Given the description of an element on the screen output the (x, y) to click on. 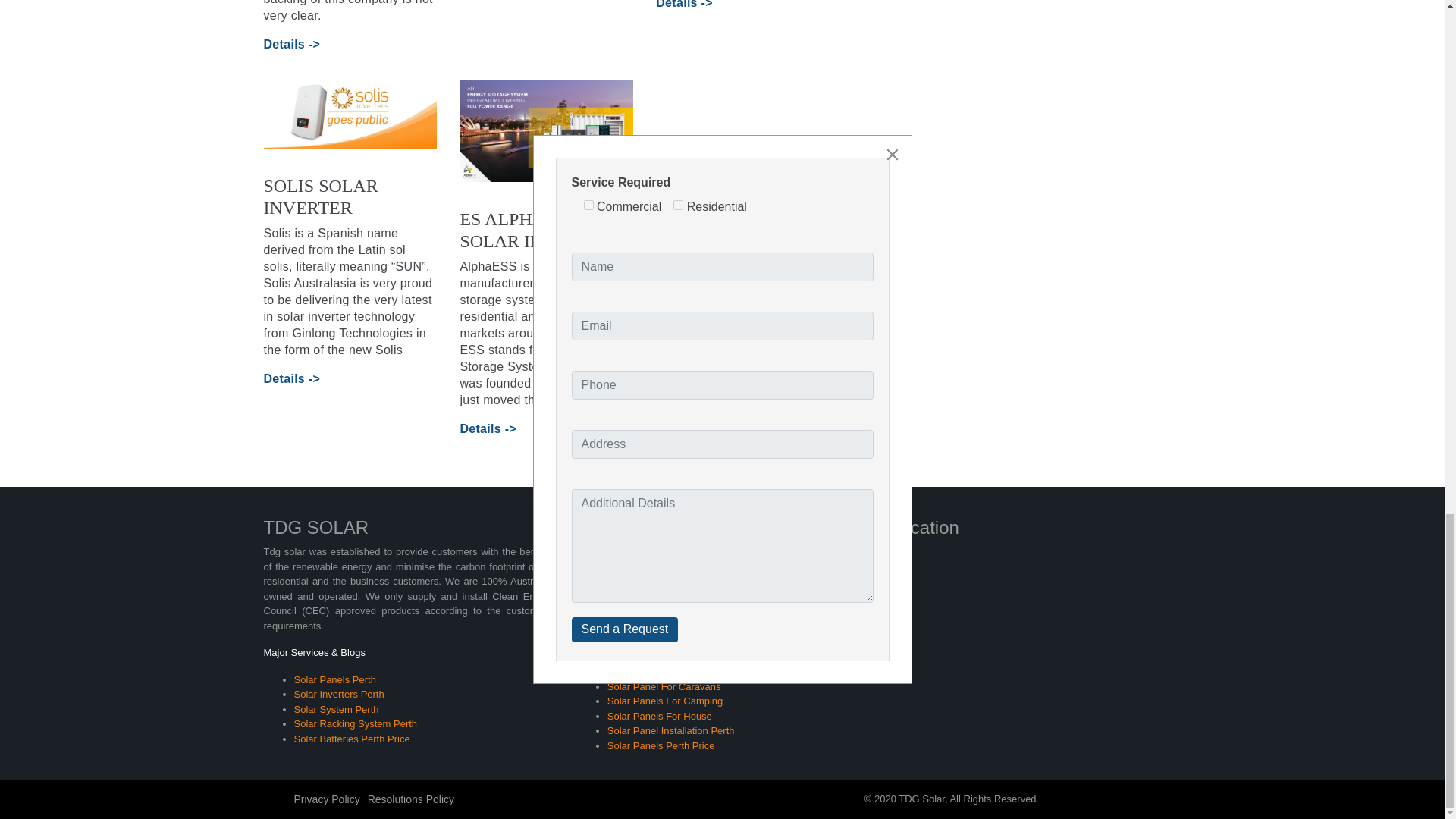
Solar Inverters Perth (339, 694)
Solar Panels Perth (334, 679)
